Given the description of an element on the screen output the (x, y) to click on. 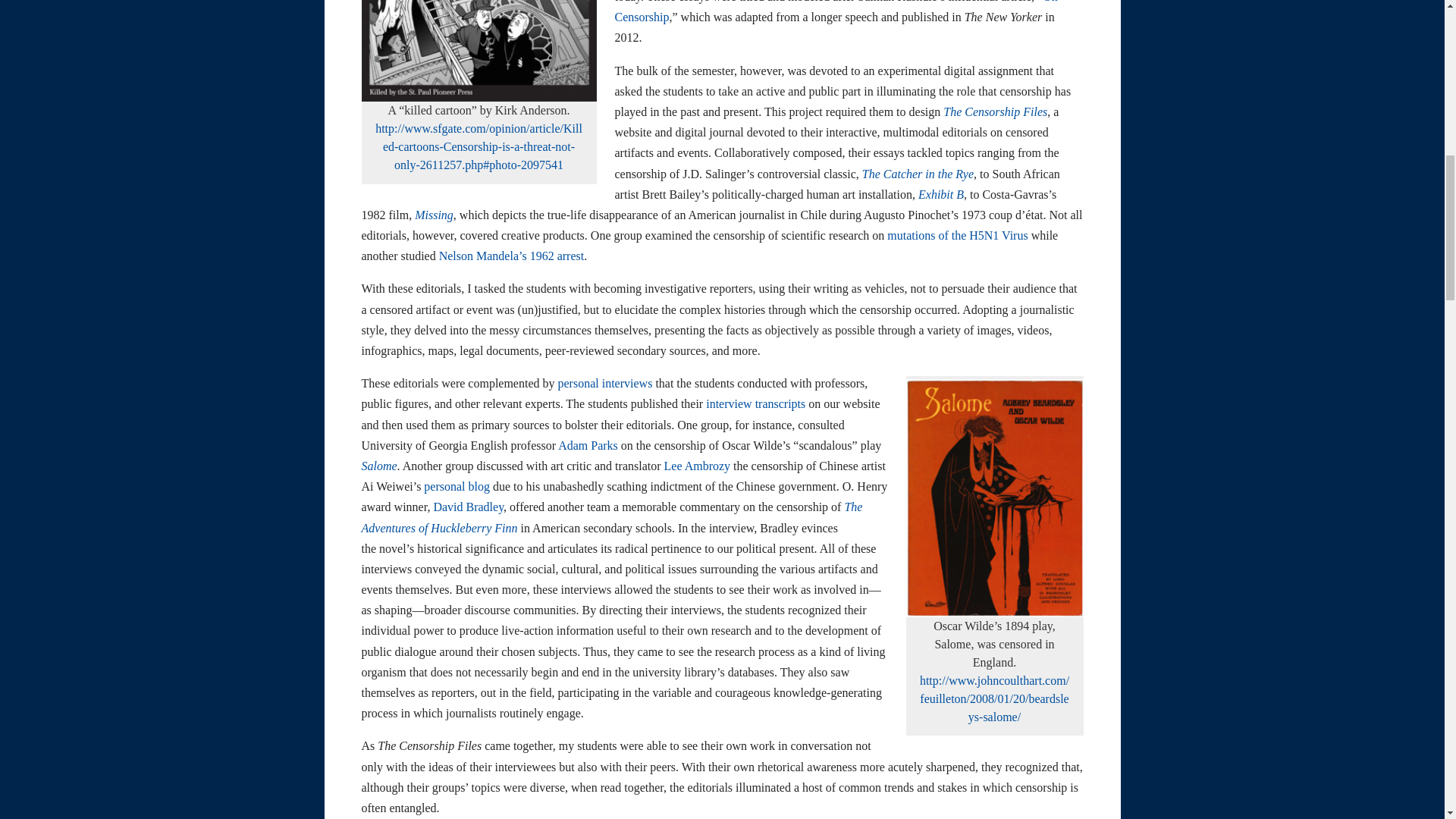
David Bradley (467, 506)
On Censorship (835, 11)
personal interviews (604, 382)
The Adventures of Huckleberry Finn (611, 516)
mutations of the H5N1 Virus (956, 235)
Exhibit B (940, 194)
The Catcher in the Rye (917, 173)
Salome (378, 465)
interview transcripts (755, 403)
The Censorship Files (994, 111)
